Given the description of an element on the screen output the (x, y) to click on. 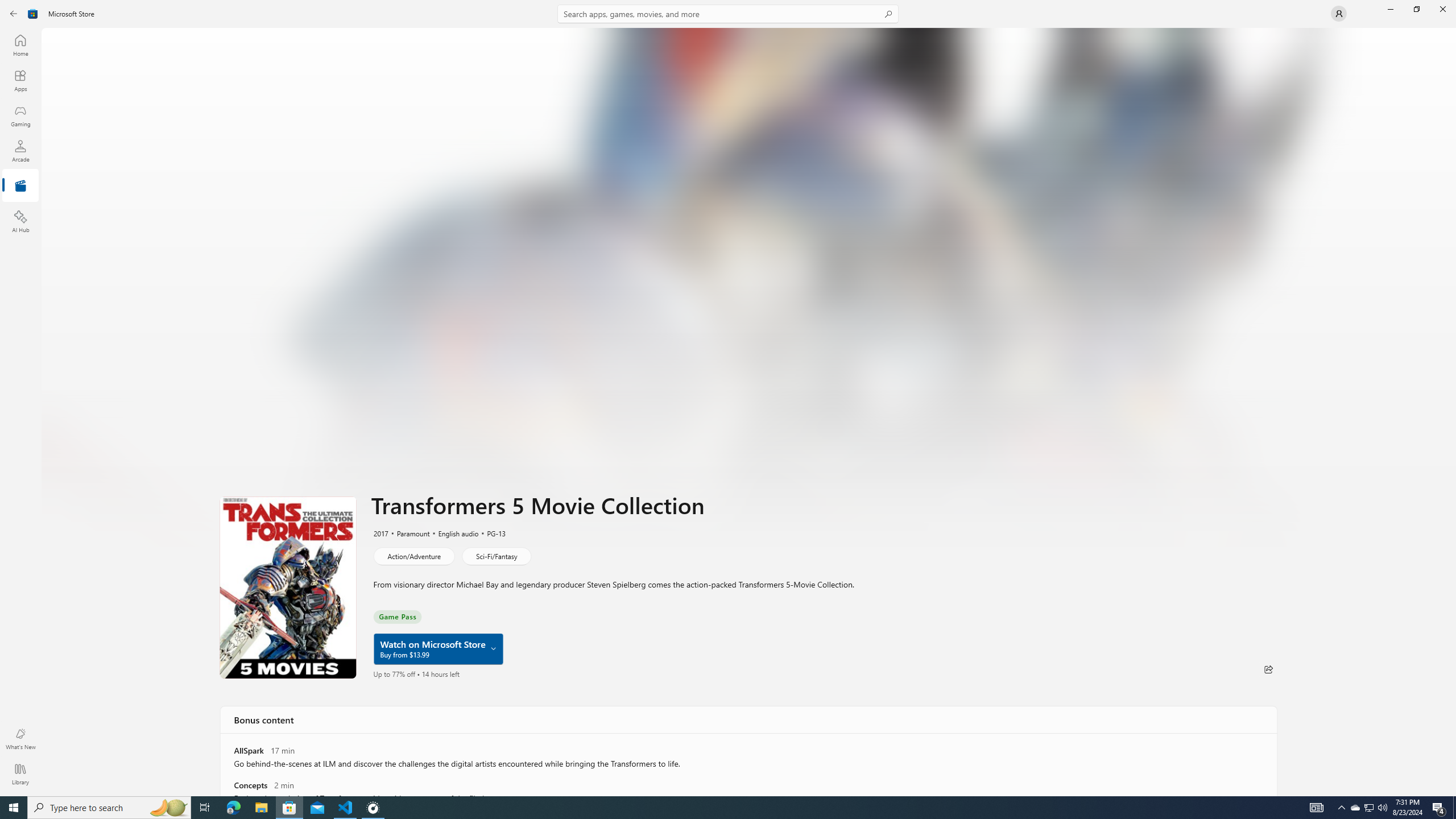
AutomationID: NavigationControl (728, 398)
PG-13 (490, 533)
2017 (379, 533)
Search (727, 13)
